Given the description of an element on the screen output the (x, y) to click on. 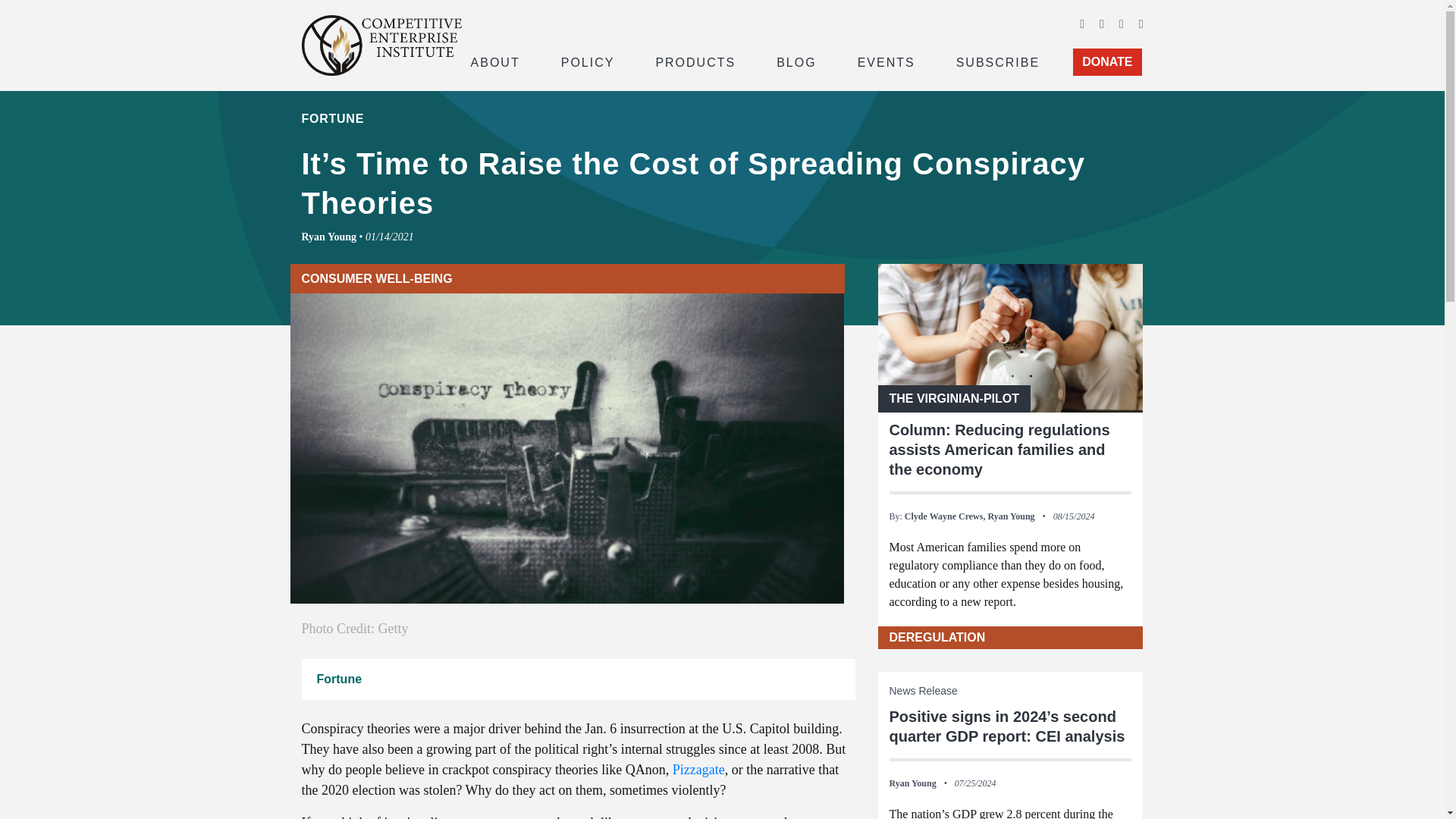
PRODUCTS (694, 61)
DONATE (1107, 62)
ABOUT (495, 61)
EVENTS (886, 61)
POLICY (588, 61)
BLOG (796, 61)
SUBSCRIBE (997, 61)
